Given the description of an element on the screen output the (x, y) to click on. 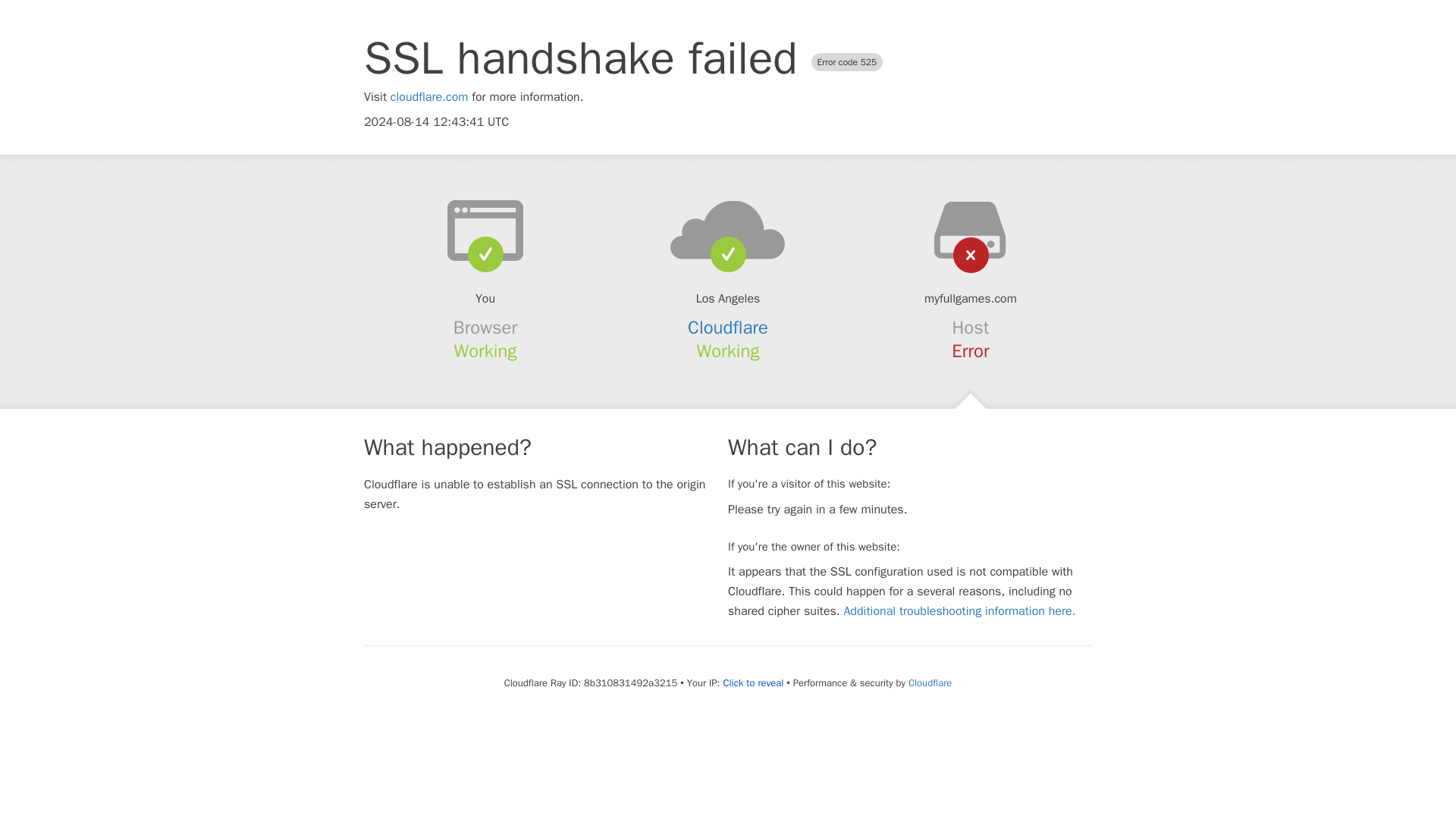
Cloudflare (930, 682)
Click to reveal (752, 683)
Additional troubleshooting information here. (959, 611)
cloudflare.com (429, 96)
Cloudflare (727, 327)
